Given the description of an element on the screen output the (x, y) to click on. 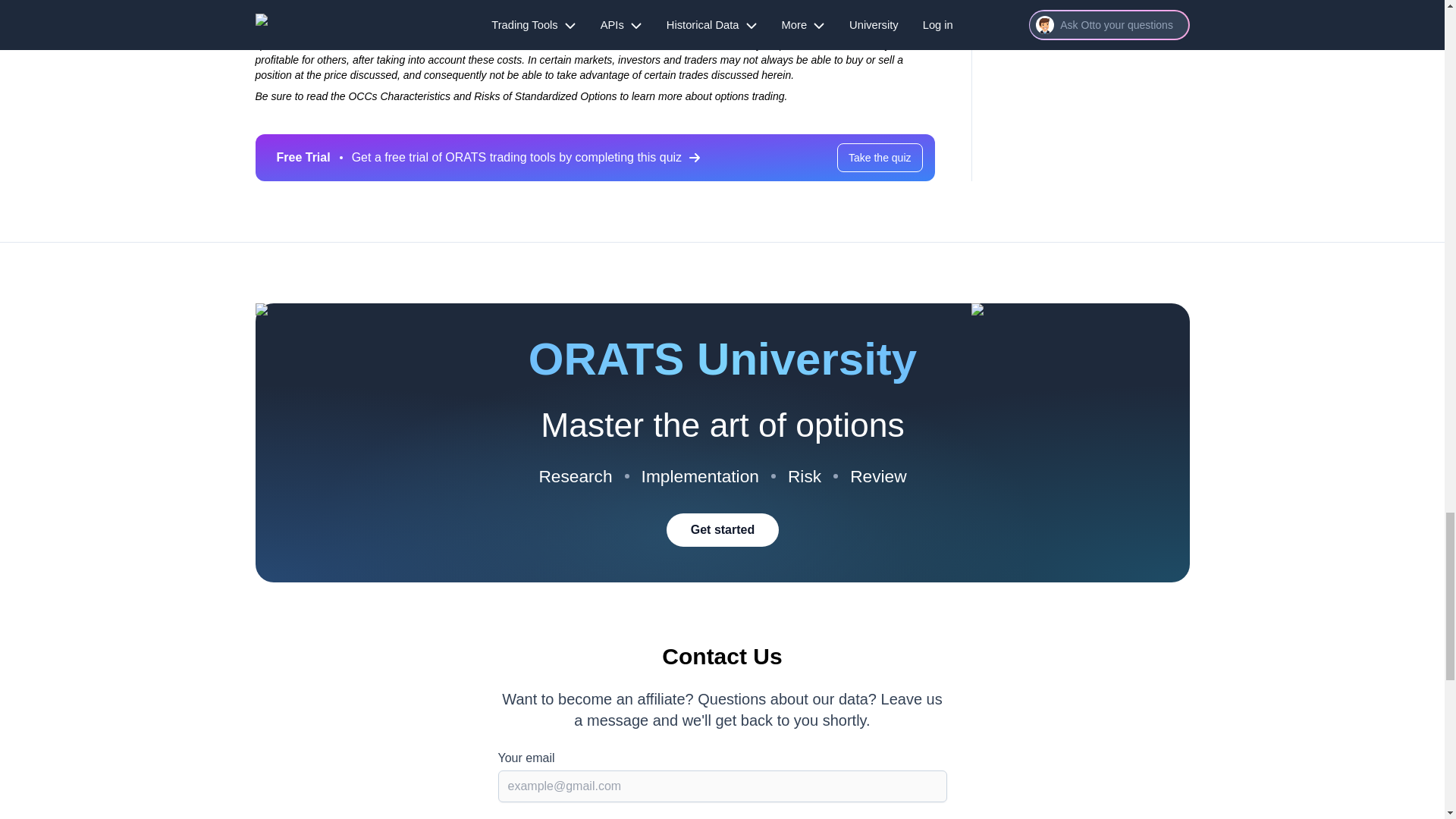
Get started (721, 530)
